Given the description of an element on the screen output the (x, y) to click on. 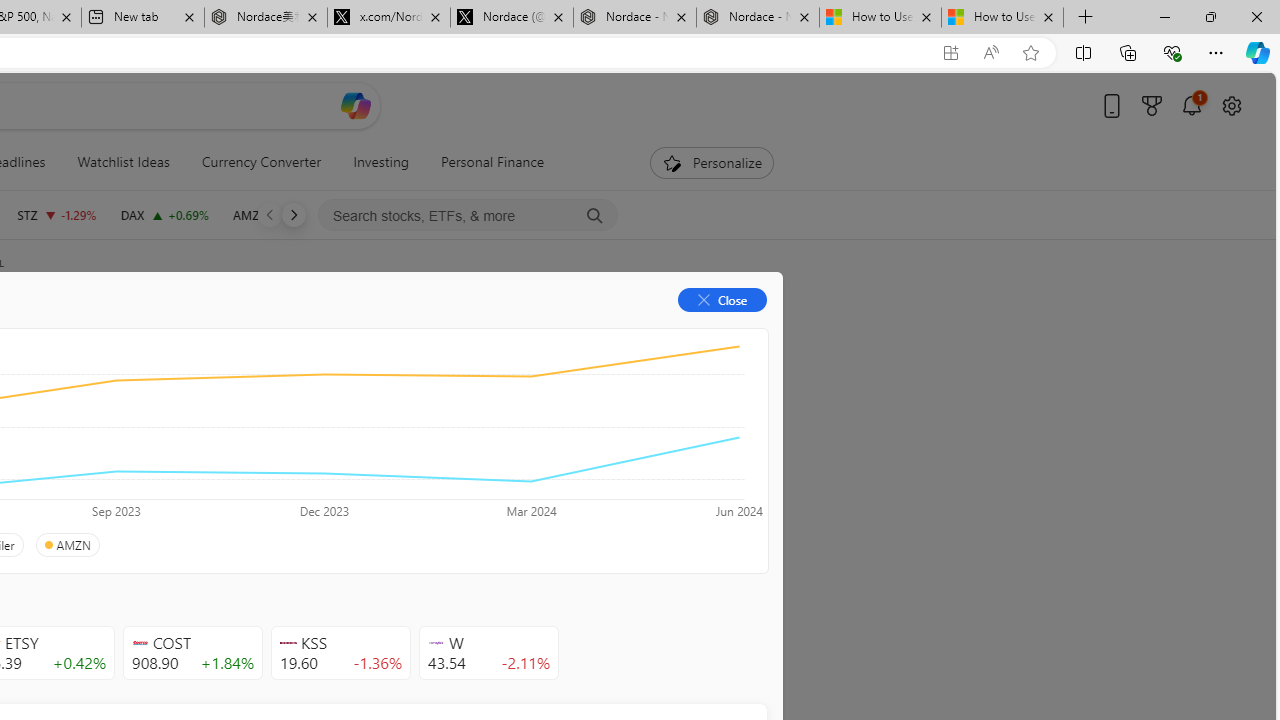
Watchlist Ideas (123, 162)
Personalize (711, 162)
AMZN AMAZON.COM, INC. decrease 173.12 -2.38 -1.36% (280, 214)
Next (293, 214)
How to Use a Monitor With Your Closed Laptop (1002, 17)
Currency Converter (261, 162)
Currency Converter (261, 162)
Investing (381, 162)
Investors (495, 331)
Earnings (398, 331)
Financials (209, 331)
Leverage & Liquidity (95, 445)
